Given the description of an element on the screen output the (x, y) to click on. 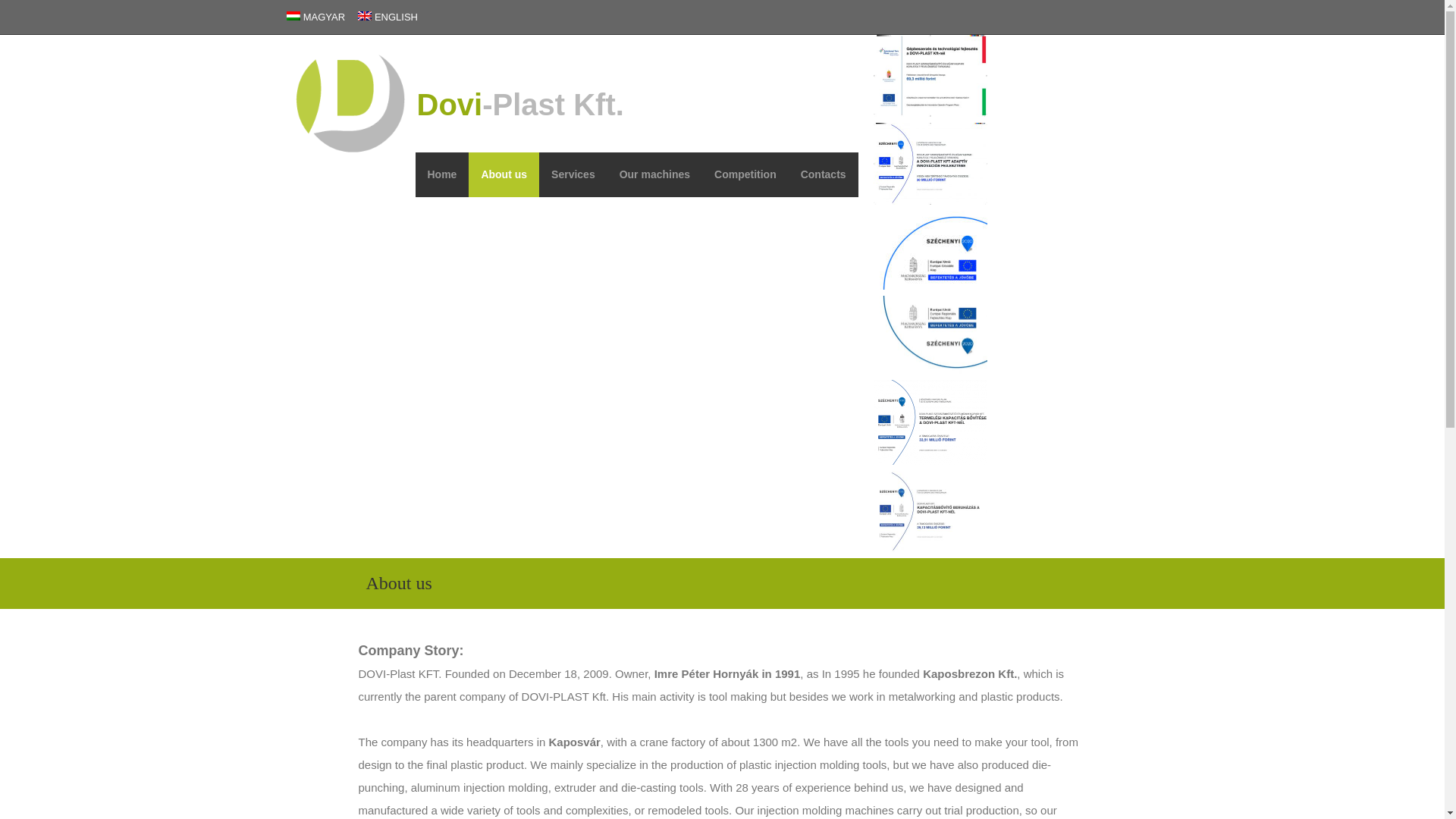
ENGLISH (395, 16)
Services (572, 174)
Competition (745, 174)
Contacts (824, 174)
Our machines (654, 174)
MAGYAR (323, 16)
About us (503, 174)
Home (441, 174)
